Given the description of an element on the screen output the (x, y) to click on. 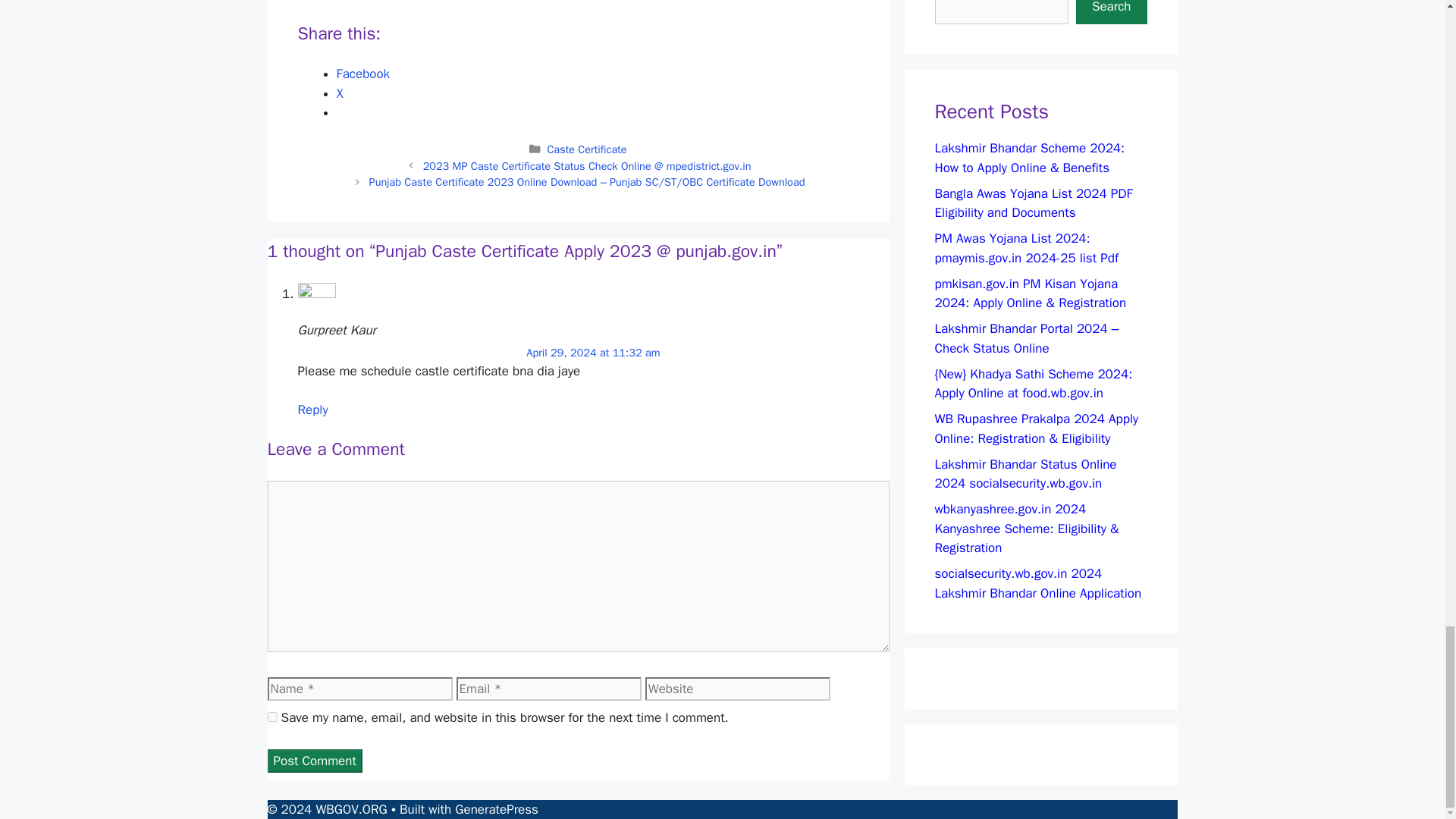
Facebook (363, 73)
Post Comment (313, 761)
yes (271, 716)
X (339, 93)
Caste Certificate (586, 149)
